Given the description of an element on the screen output the (x, y) to click on. 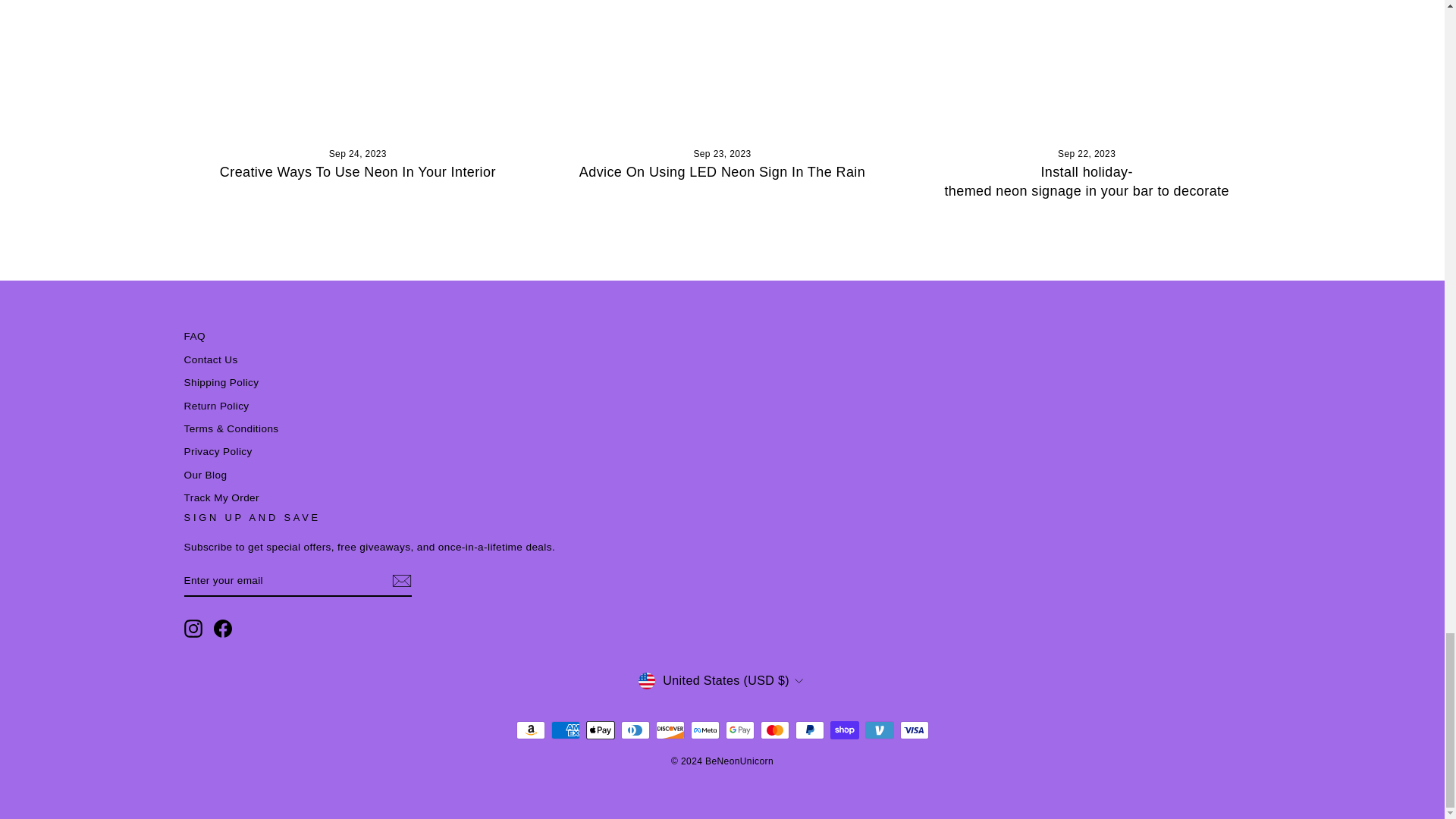
BeNeonUnicorn on Facebook (222, 628)
Meta Pay (704, 730)
Discover (669, 730)
Apple Pay (599, 730)
Diners Club (634, 730)
BeNeonUnicorn on Instagram (192, 628)
American Express (564, 730)
Amazon (529, 730)
